Given the description of an element on the screen output the (x, y) to click on. 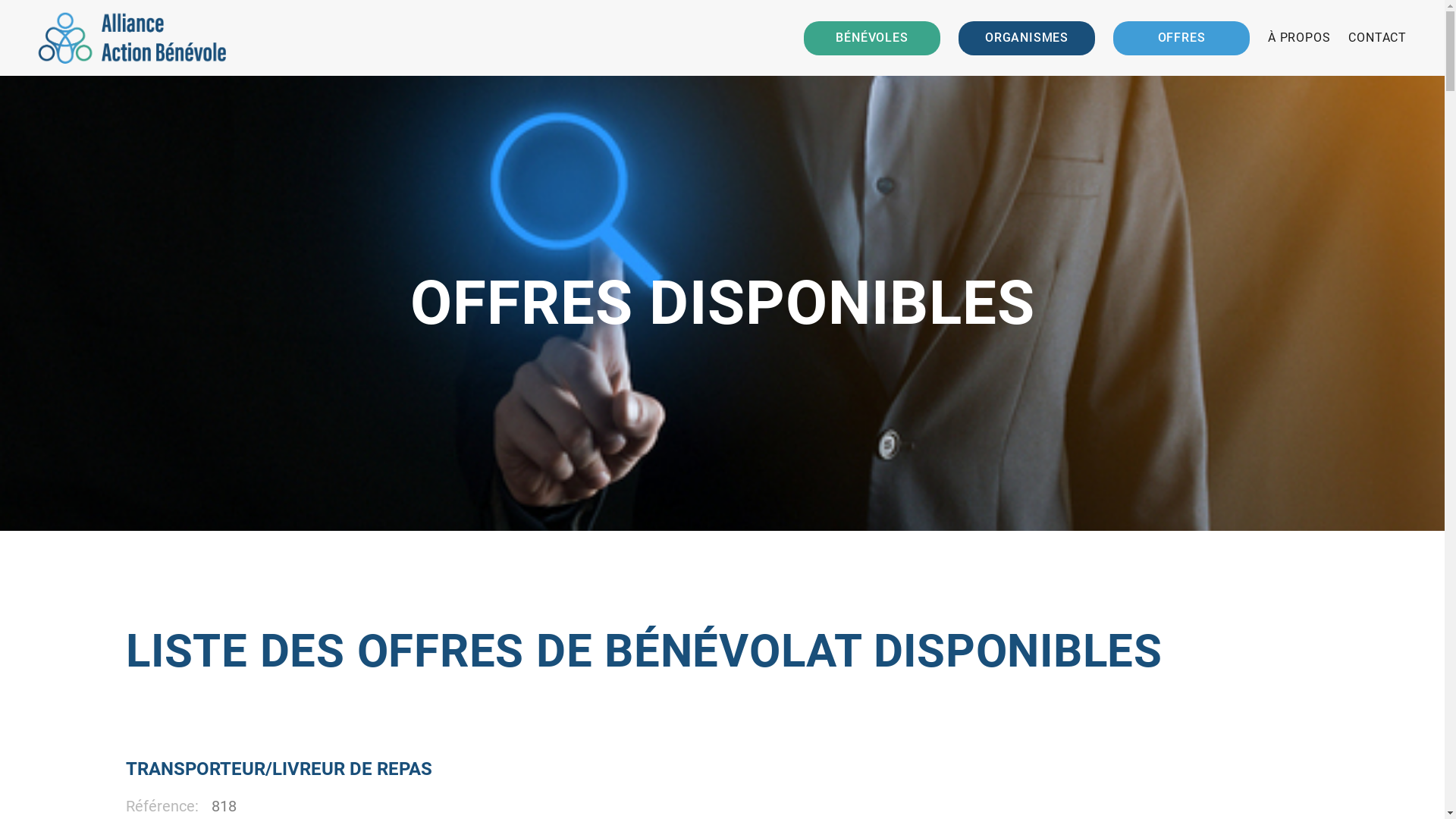
CONTACT Element type: text (1377, 38)
ORGANISMES Element type: text (1026, 38)
OFFRES Element type: text (1181, 38)
